Given the description of an element on the screen output the (x, y) to click on. 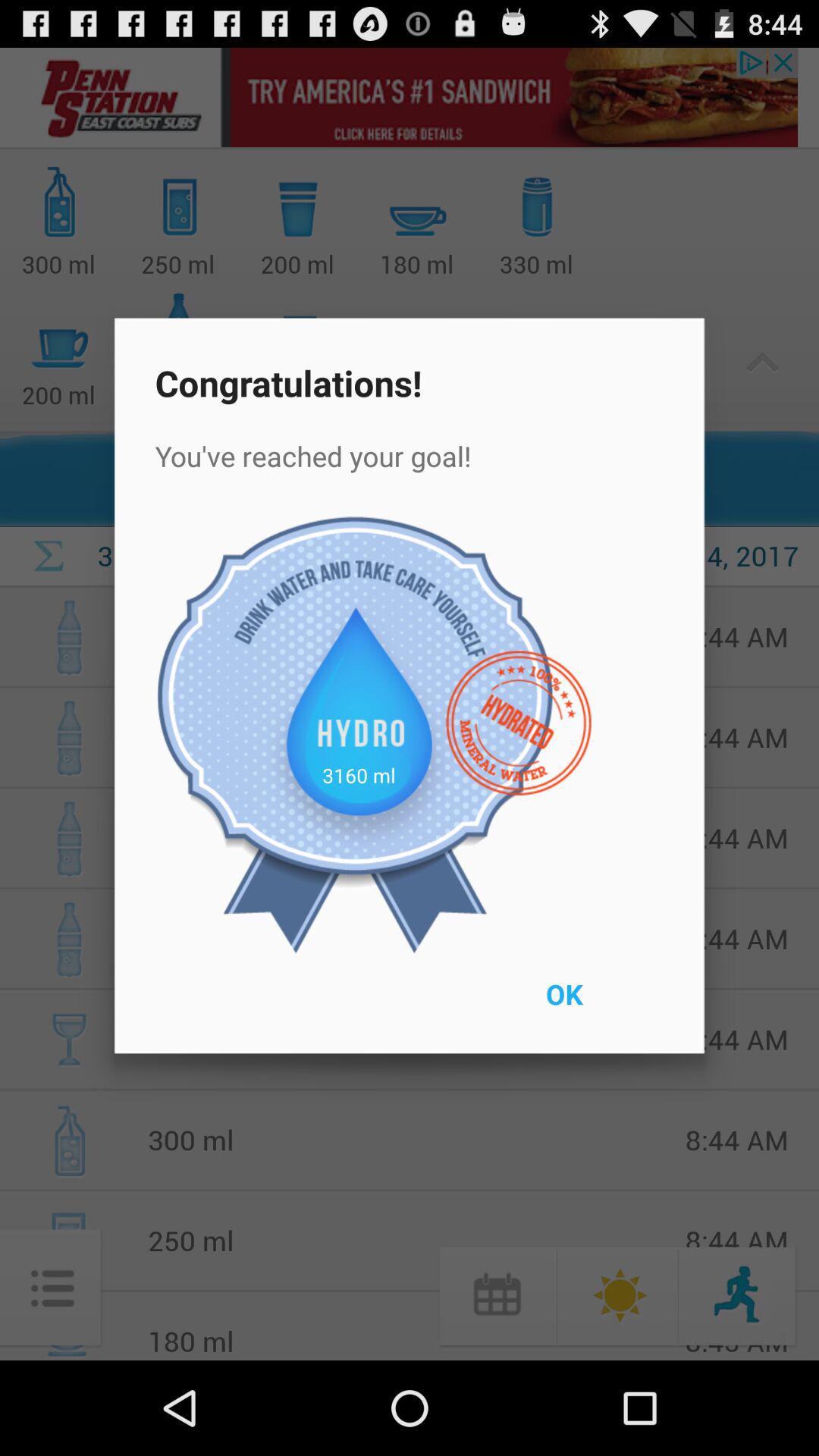
press icon below 3160 ml icon (599, 1003)
